Given the description of an element on the screen output the (x, y) to click on. 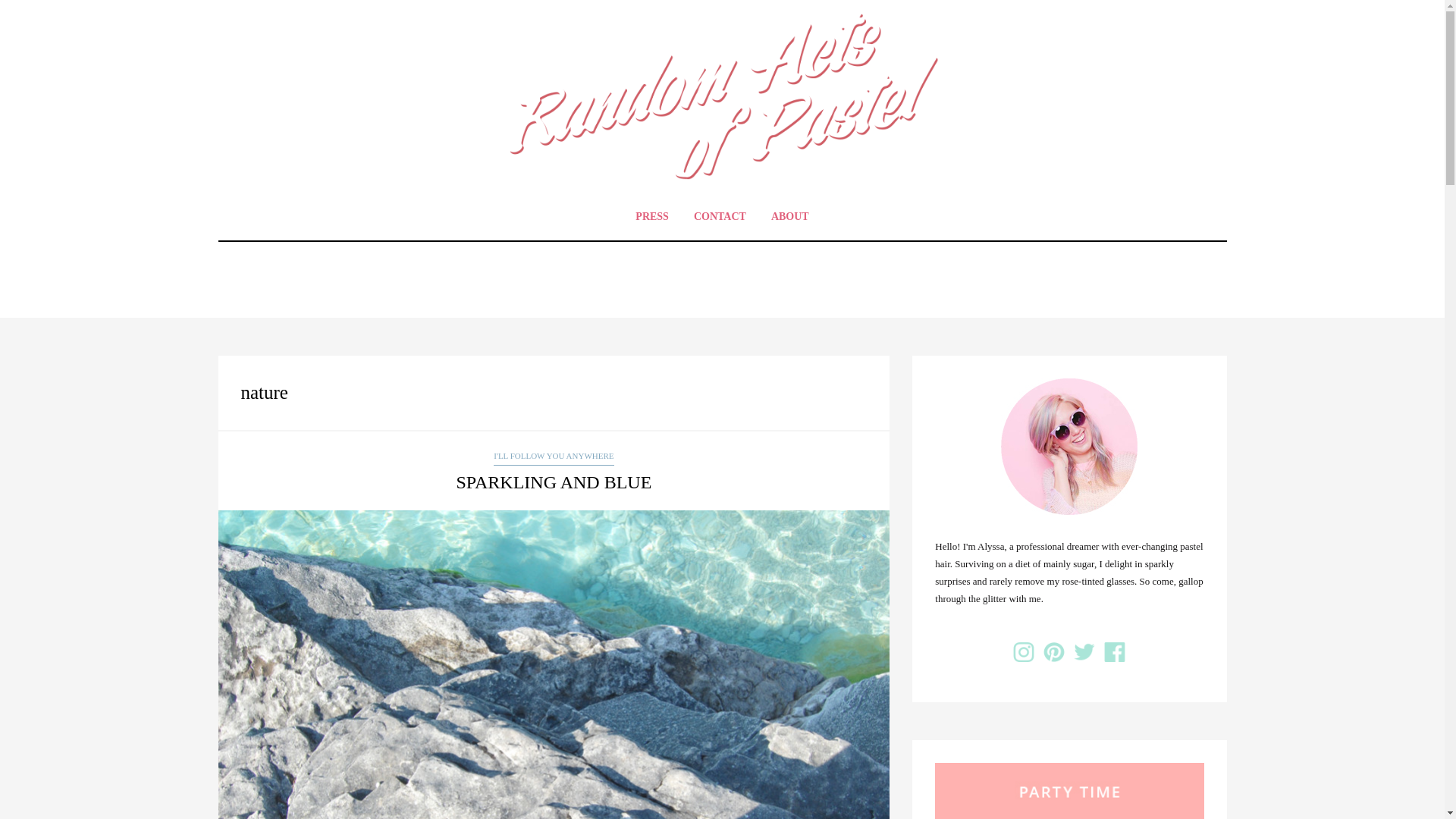
Search (31, 13)
ABOUT (790, 216)
PRESS (651, 216)
CONTACT (719, 216)
I'LL FOLLOW YOU ANYWHERE (552, 456)
SPARKLING AND BLUE (552, 482)
